Given the description of an element on the screen output the (x, y) to click on. 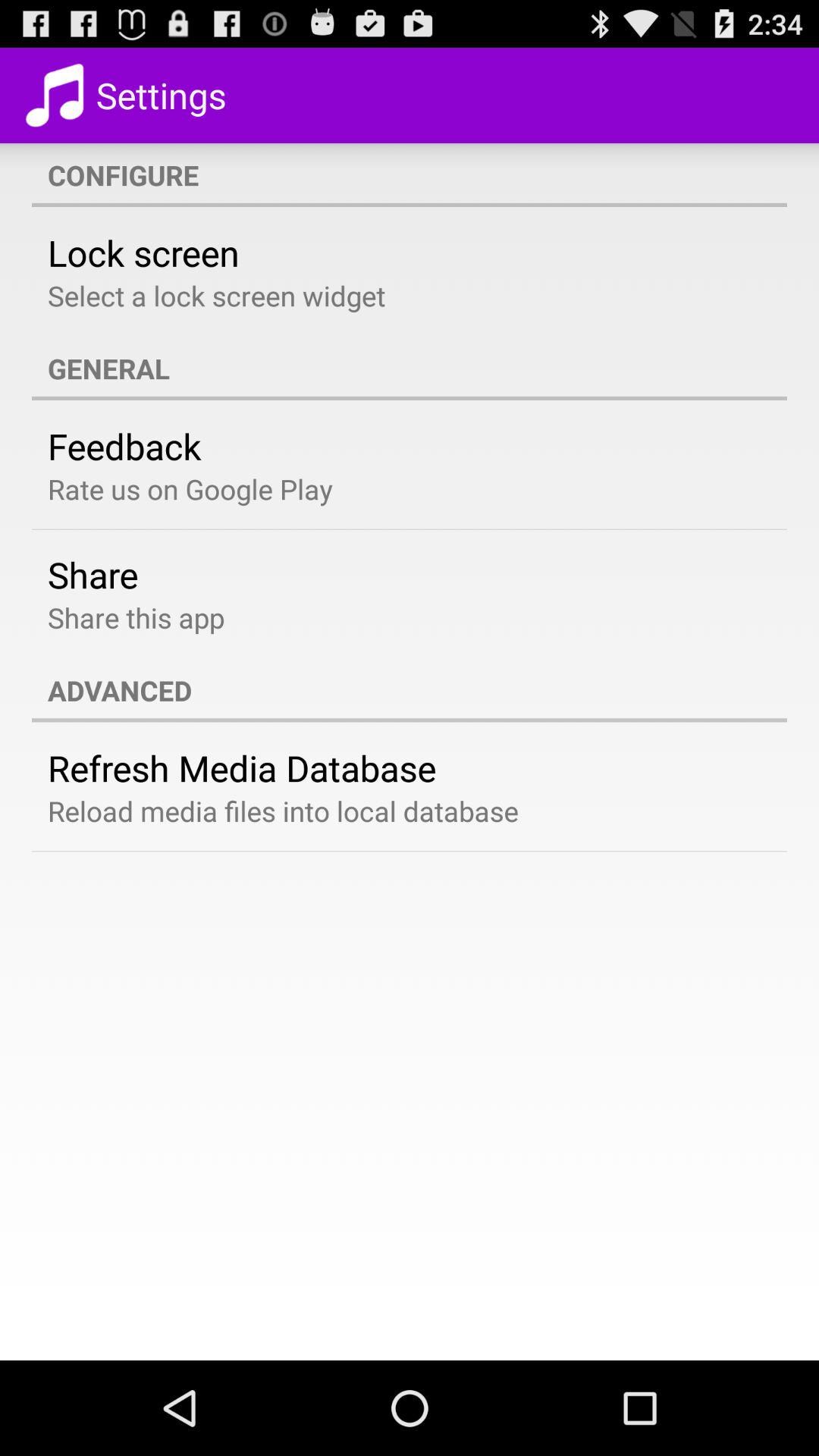
click on settings (129, 95)
